Given the description of an element on the screen output the (x, y) to click on. 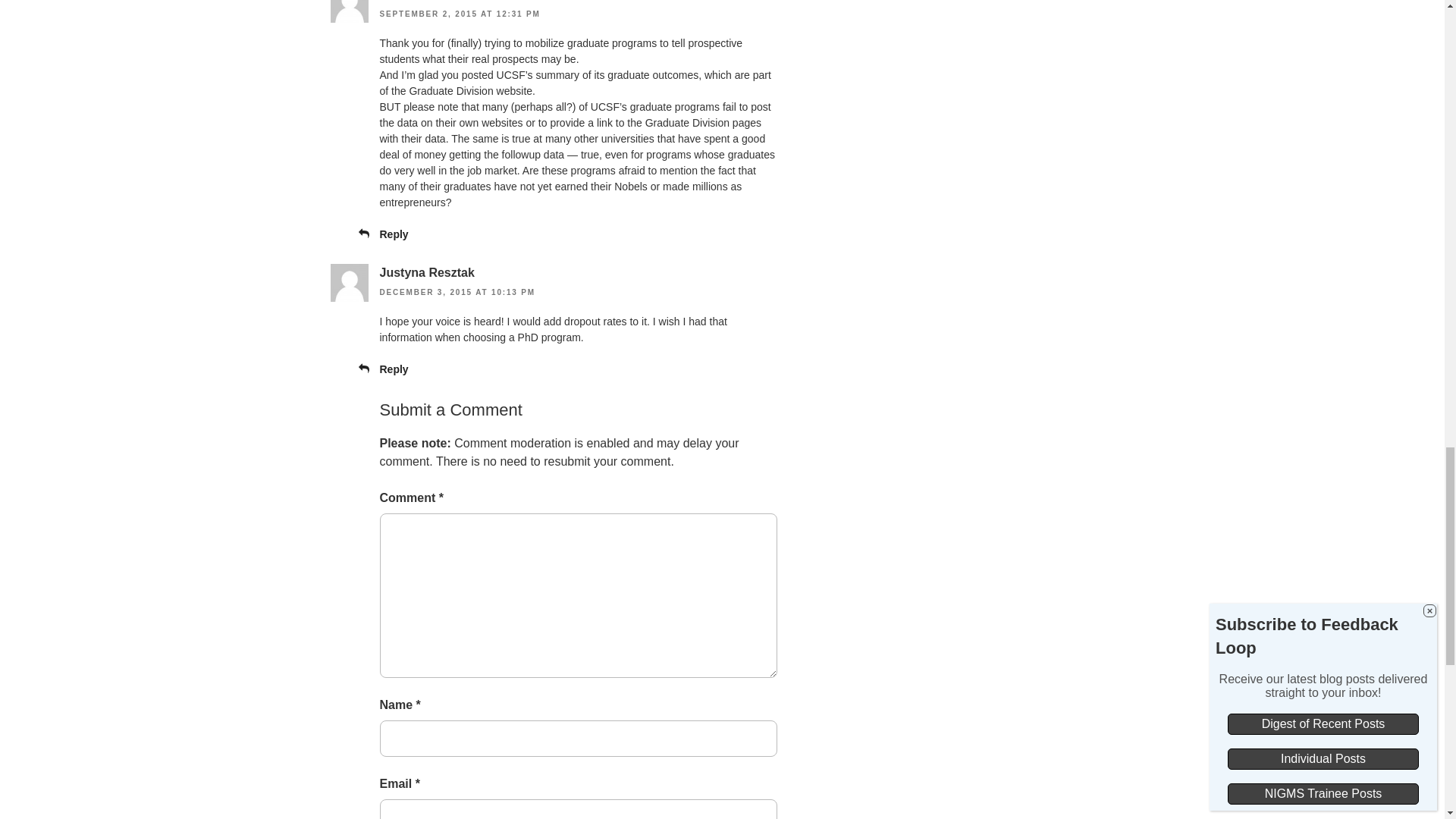
DECEMBER 3, 2015 AT 10:13 PM (456, 292)
Reply (392, 369)
SEPTEMBER 2, 2015 AT 12:31 PM (459, 13)
Reply (392, 234)
